Given the description of an element on the screen output the (x, y) to click on. 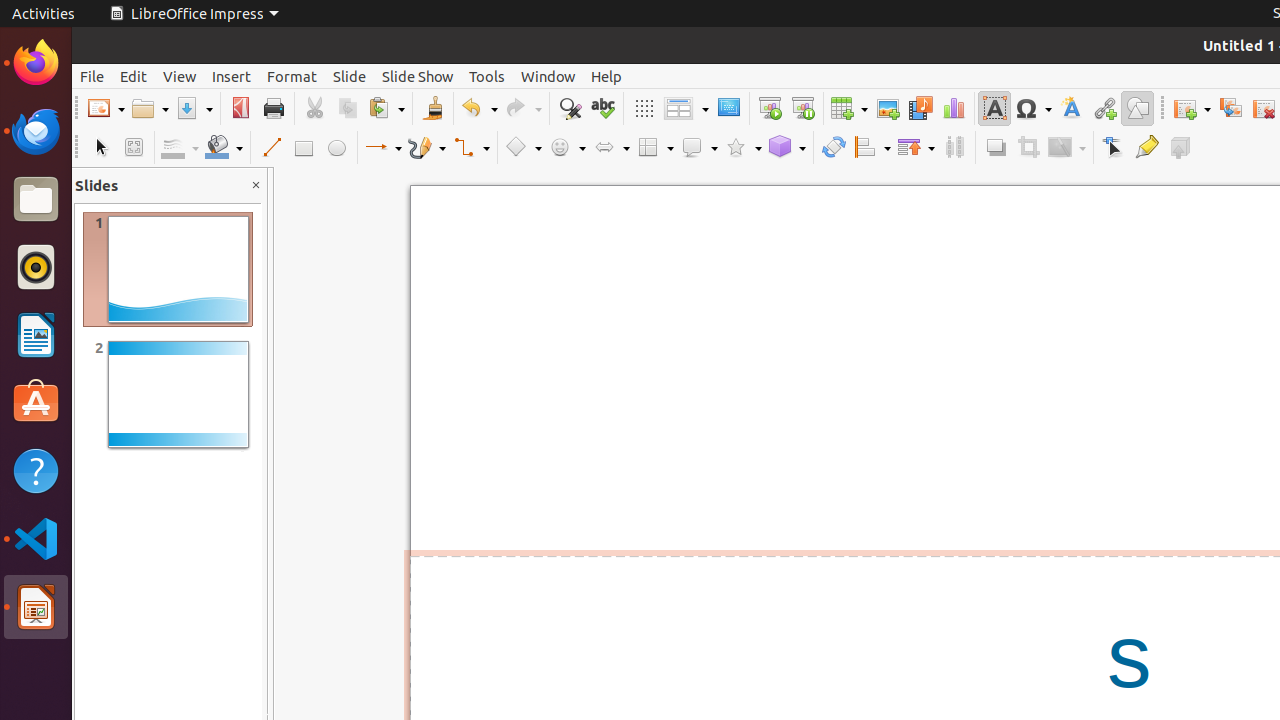
Start from First Slide Element type: push-button (769, 108)
New Element type: push-button (106, 108)
